Given the description of an element on the screen output the (x, y) to click on. 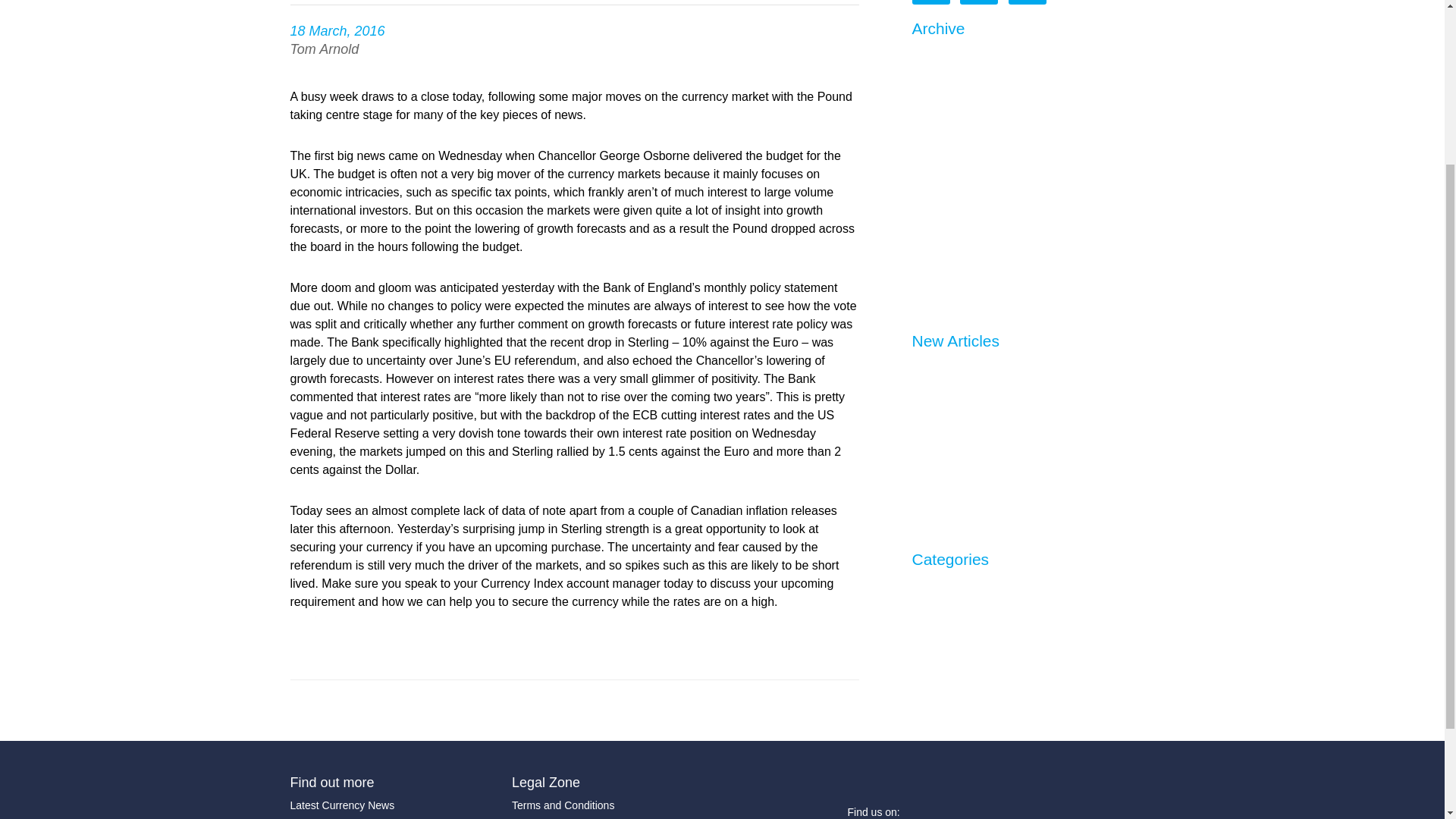
2013 (925, 253)
Latest Currency News (389, 805)
2016 (925, 166)
2018 (925, 110)
2012 (925, 282)
Terms and Conditions (611, 805)
2017 (925, 138)
2019 (925, 81)
2015 (925, 195)
2020 (925, 51)
2014 (925, 224)
2011 (925, 310)
